Given the description of an element on the screen output the (x, y) to click on. 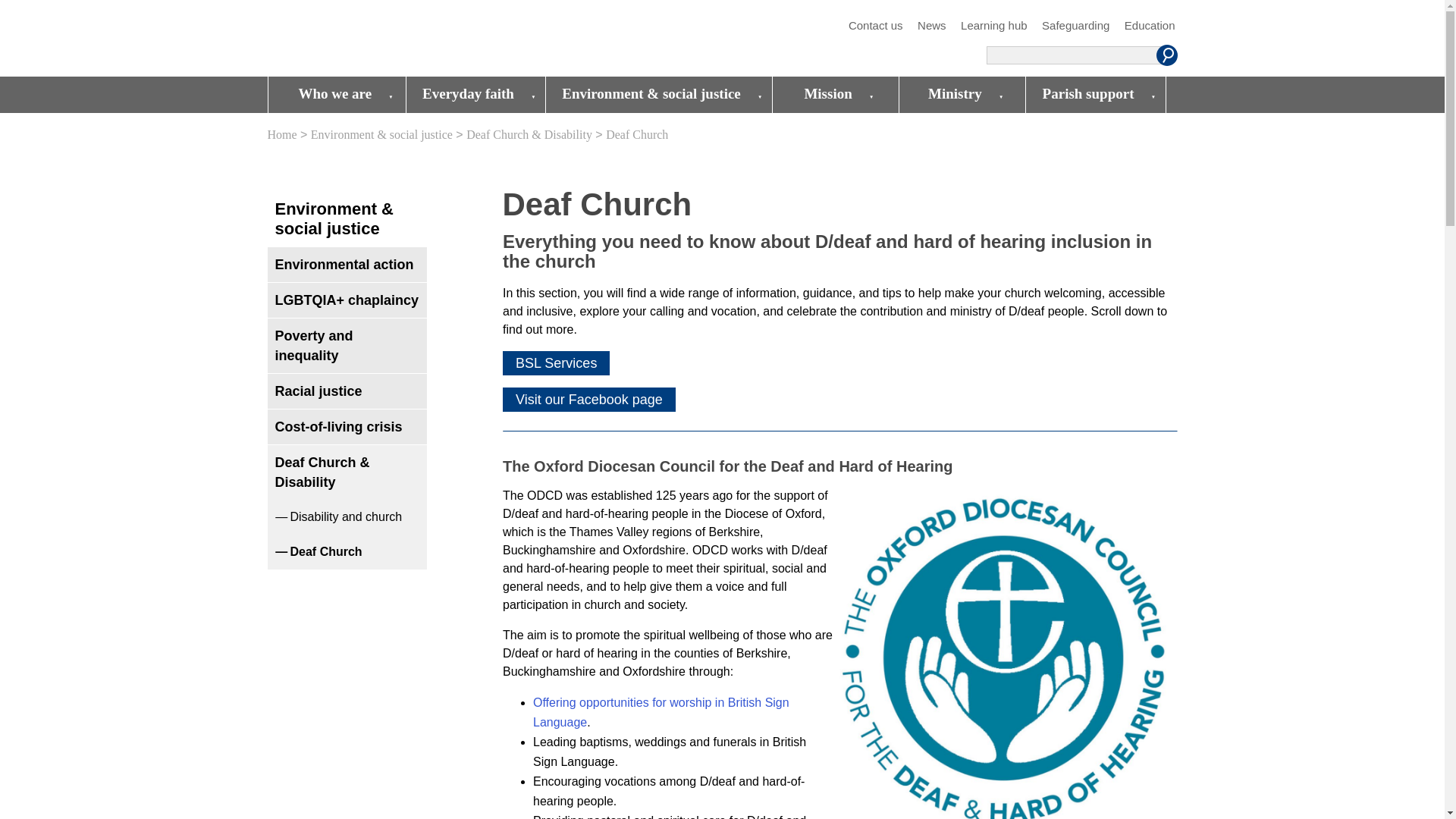
Education (1149, 25)
Diocese of Oxford Logo (376, 39)
News (931, 25)
Contact us (875, 25)
Learning hub (993, 25)
Safeguarding (1075, 25)
